Given the description of an element on the screen output the (x, y) to click on. 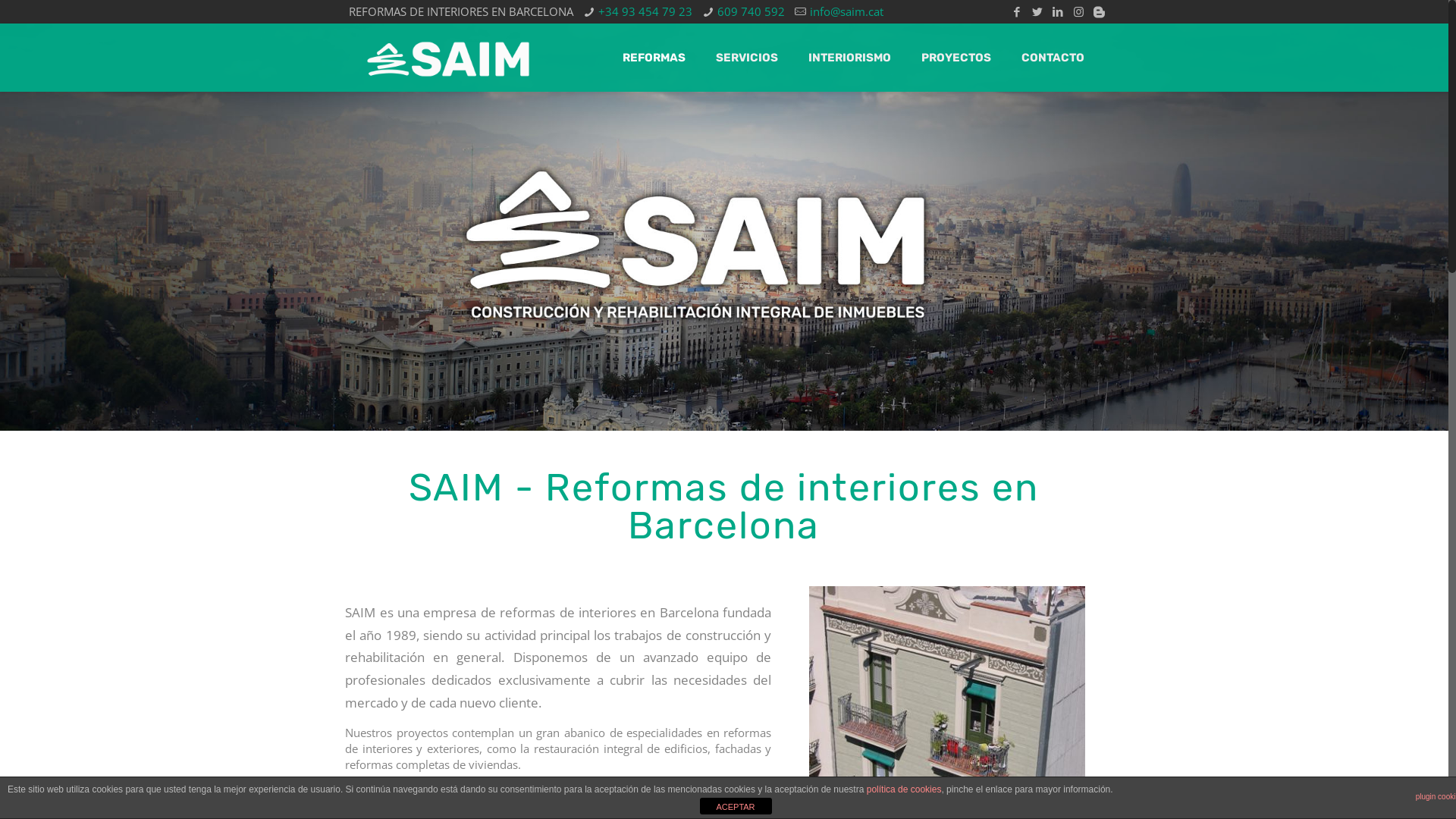
info@saim.cat Element type: text (846, 10)
PROYECTOS Element type: text (956, 57)
+34 93 454 79 23 Element type: text (645, 10)
LinkedIn Element type: hover (1058, 10)
Instagram Element type: hover (1078, 10)
INTERIORISMO Element type: text (849, 57)
CONTACTO Element type: text (1052, 57)
ACEPTAR Element type: text (735, 805)
REFORMAS Element type: text (653, 57)
Reformas de interiores en Barcelona Element type: hover (449, 57)
Twitter Element type: hover (1037, 10)
609 740 592 Element type: text (750, 10)
SERVICIOS Element type: text (746, 57)
Facebook Element type: hover (1017, 10)
